Given the description of an element on the screen output the (x, y) to click on. 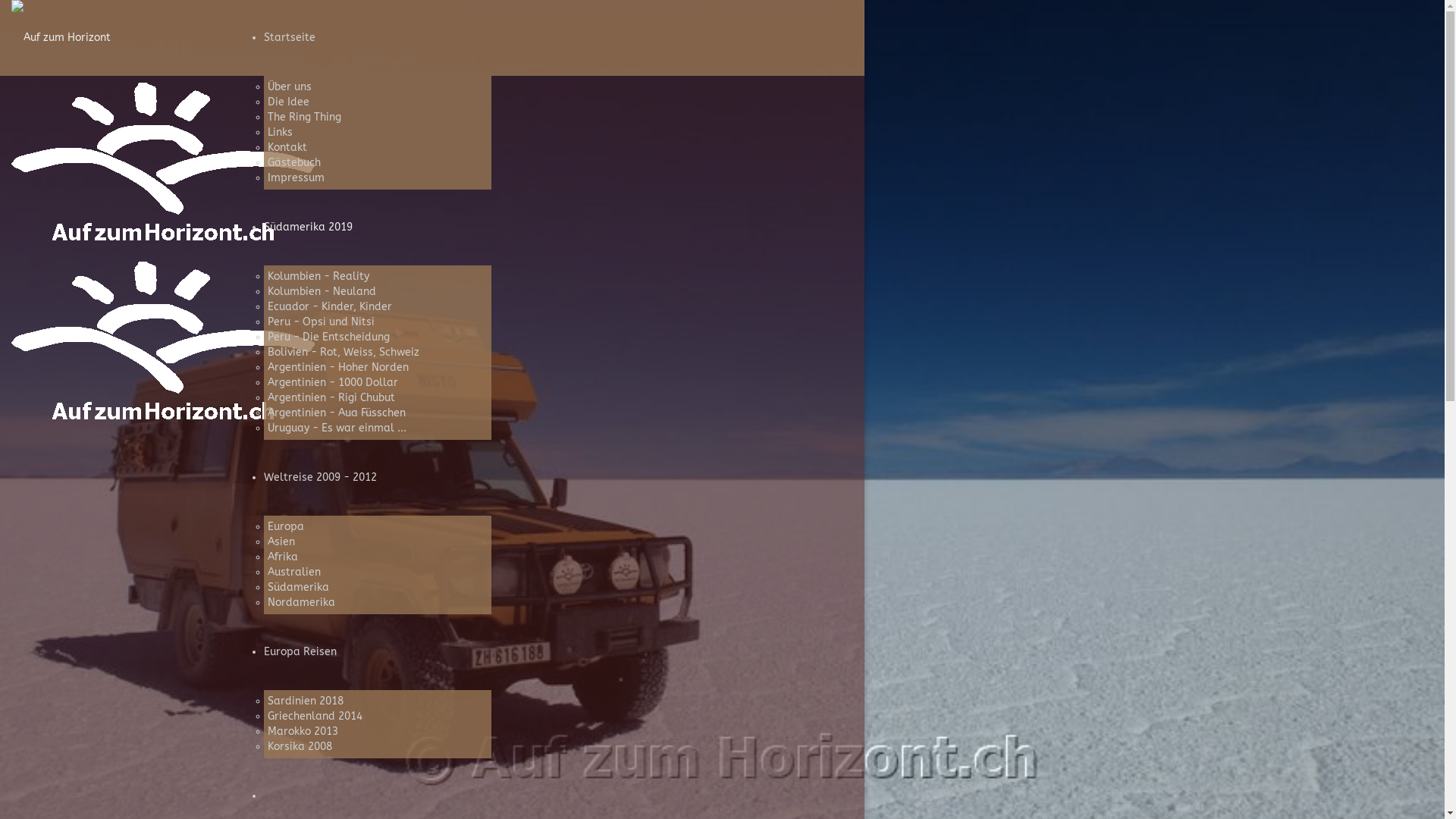
Europa Element type: text (284, 526)
Asien Element type: text (280, 541)
The Ring Thing Element type: text (303, 116)
Bolivien - Rot, Weiss, Schweiz Element type: text (342, 351)
Peru - Opsi und Nitsi Element type: text (319, 321)
Weltreise 2009 - 2012 Element type: text (319, 476)
Impressum Element type: text (294, 177)
Australien Element type: text (293, 571)
Argentinien - 1000 Dollar Element type: text (331, 382)
Ecuador - Kinder, Kinder Element type: text (328, 306)
Marokko 2013 Element type: text (301, 730)
Uruguay - Es war einmal ... Element type: text (335, 427)
Nordamerika Element type: text (300, 602)
Kontakt Element type: text (286, 147)
Argentinien - Hoher Norden Element type: text (336, 366)
Kolumbien - Neuland Element type: text (320, 291)
Peru - Die Entscheidung Element type: text (327, 336)
Argentinien - Rigi Chubut Element type: text (330, 397)
Europa Reisen Element type: text (299, 651)
Die Idee Element type: text (287, 101)
Afrika Element type: text (281, 556)
Korsika 2008 Element type: text (298, 746)
Startseite Element type: text (289, 37)
Links Element type: text (278, 131)
Sardinien 2018 Element type: text (304, 700)
Kolumbien - Reality Element type: text (317, 275)
Griechenland 2014 Element type: text (313, 715)
